Given the description of an element on the screen output the (x, y) to click on. 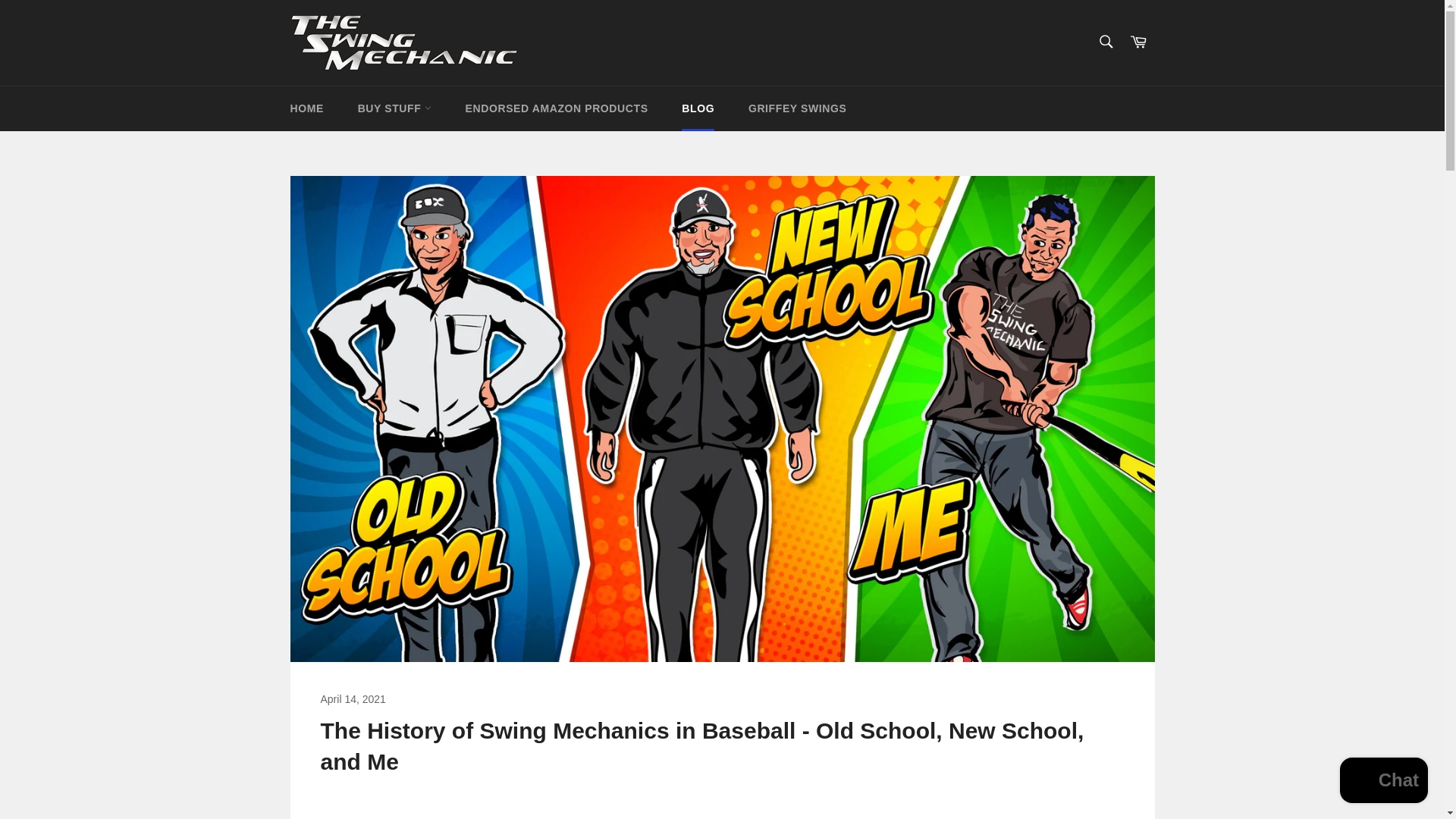
Search (1104, 41)
BUY STUFF (394, 108)
BLOG (697, 108)
Cart (1138, 42)
ENDORSED AMAZON PRODUCTS (556, 108)
GRIFFEY SWINGS (797, 108)
Shopify online store chat (1383, 781)
HOME (306, 108)
